Given the description of an element on the screen output the (x, y) to click on. 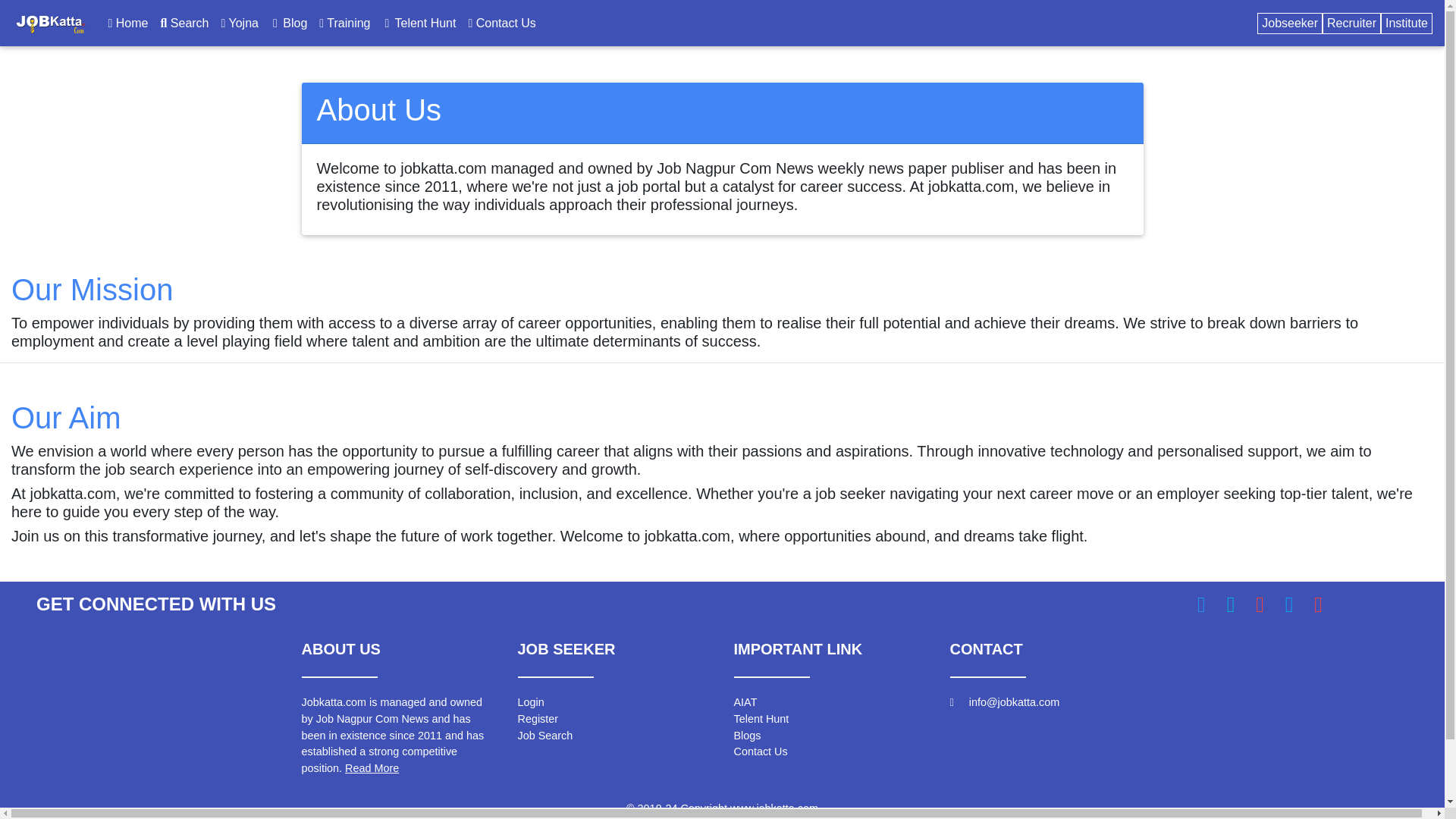
Telent Hunt (761, 718)
AIAT (745, 702)
Blogs (747, 735)
Login (529, 702)
Register (536, 718)
Training (344, 22)
Yojna (239, 22)
Contact Us (760, 751)
Institute (1406, 22)
Job Search (544, 735)
Search (184, 22)
Blog (288, 22)
Jobseeker (1289, 22)
Recruiter (1351, 22)
www.jobkatta.com (774, 808)
